Given the description of an element on the screen output the (x, y) to click on. 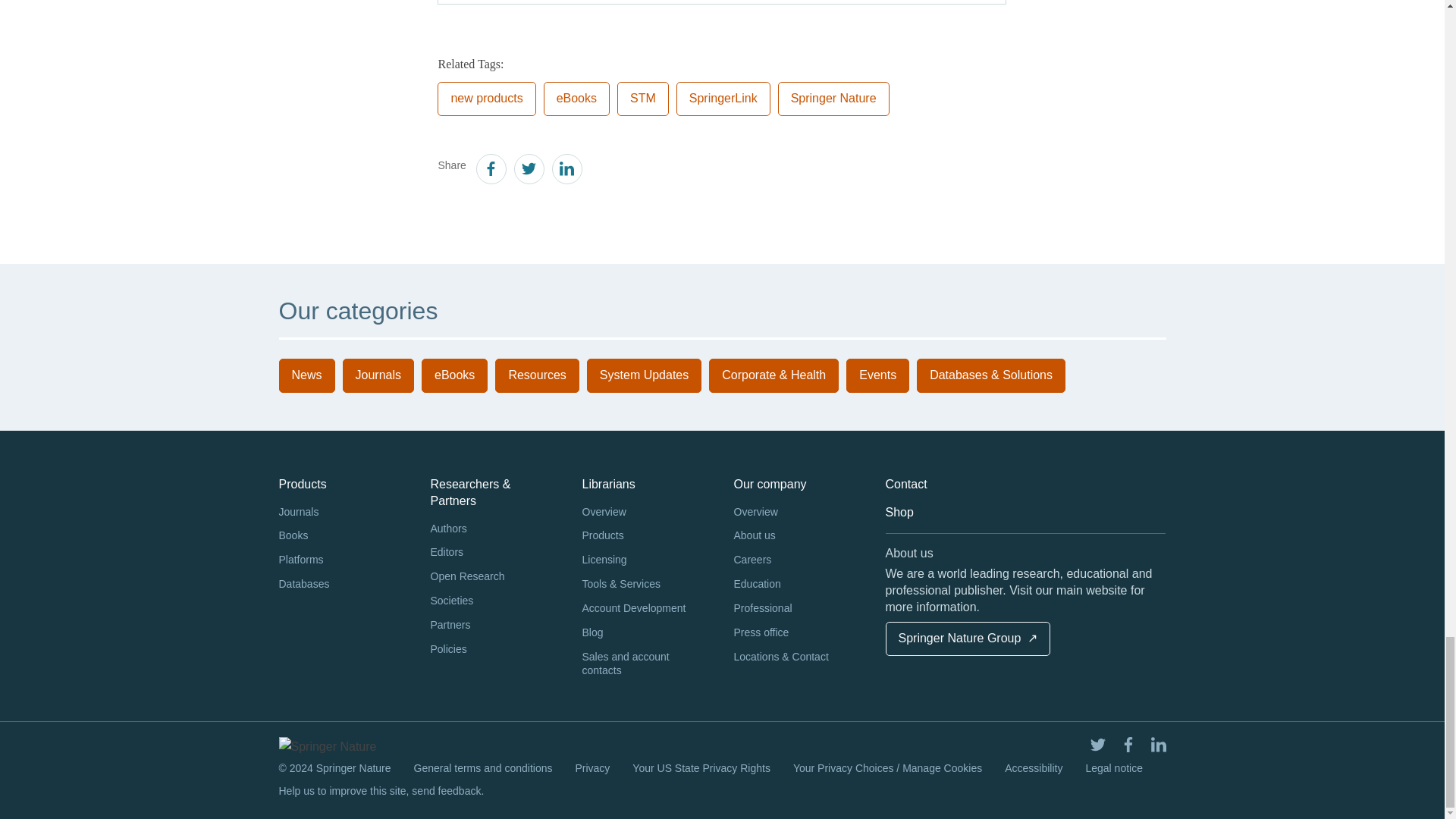
linkedin (566, 171)
facebook (490, 171)
twitter (528, 171)
